Given the description of an element on the screen output the (x, y) to click on. 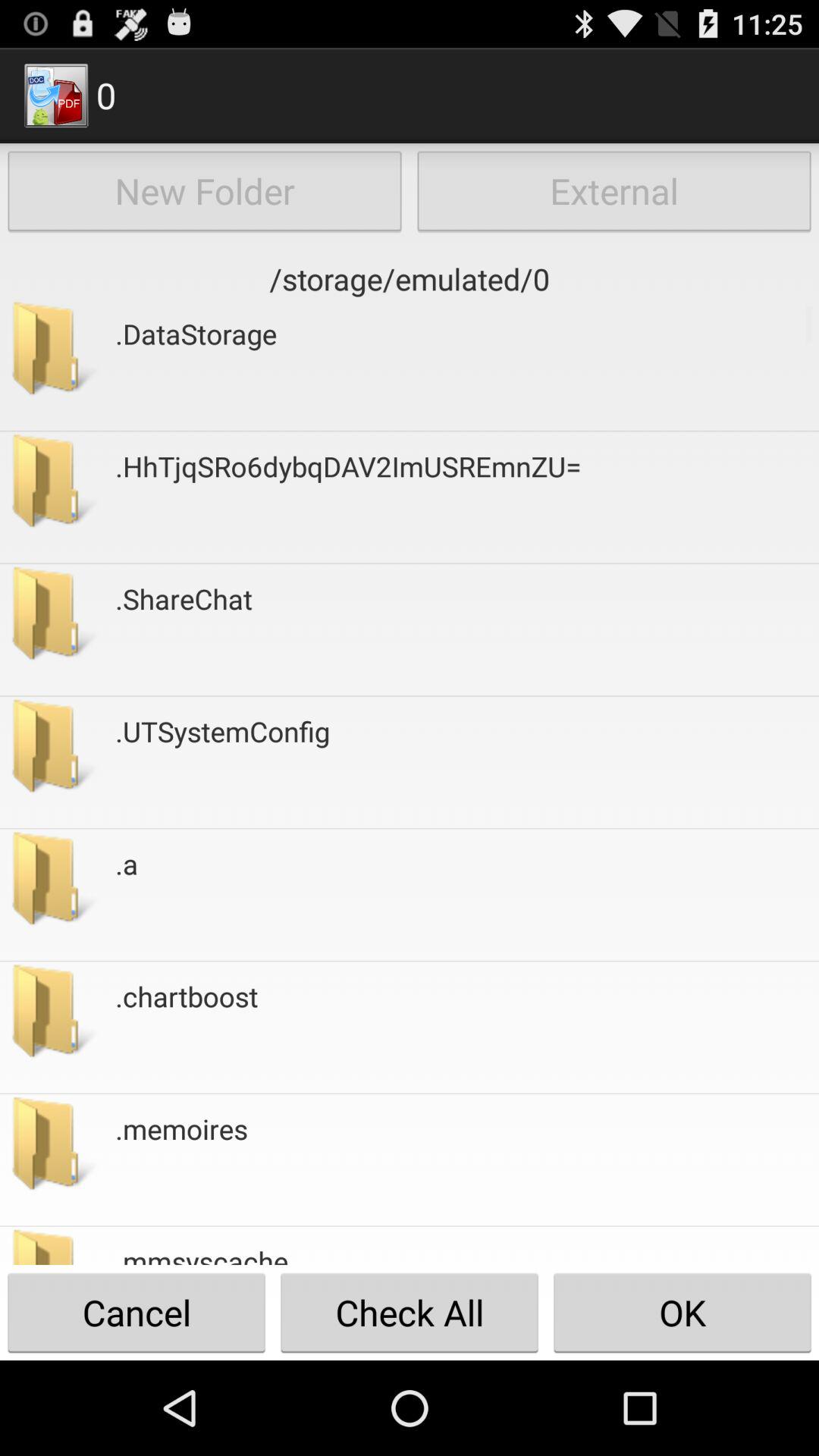
scroll to new folder (204, 190)
